Given the description of an element on the screen output the (x, y) to click on. 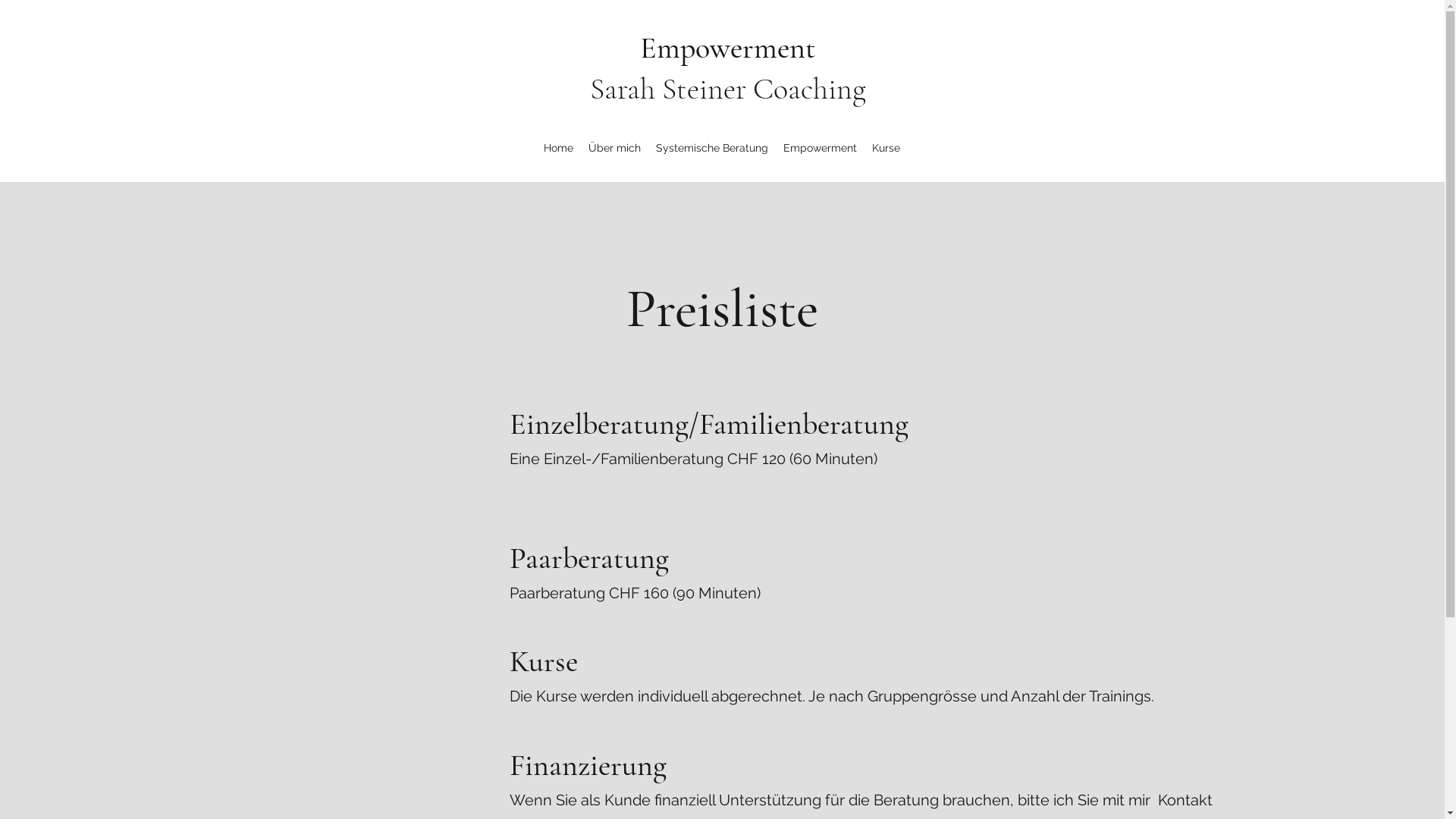
Home Element type: text (558, 147)
Empowerment Element type: text (819, 147)
Empowerment Element type: text (727, 47)
Kurse Element type: text (885, 147)
Systemische Beratung Element type: text (711, 147)
